Given the description of an element on the screen output the (x, y) to click on. 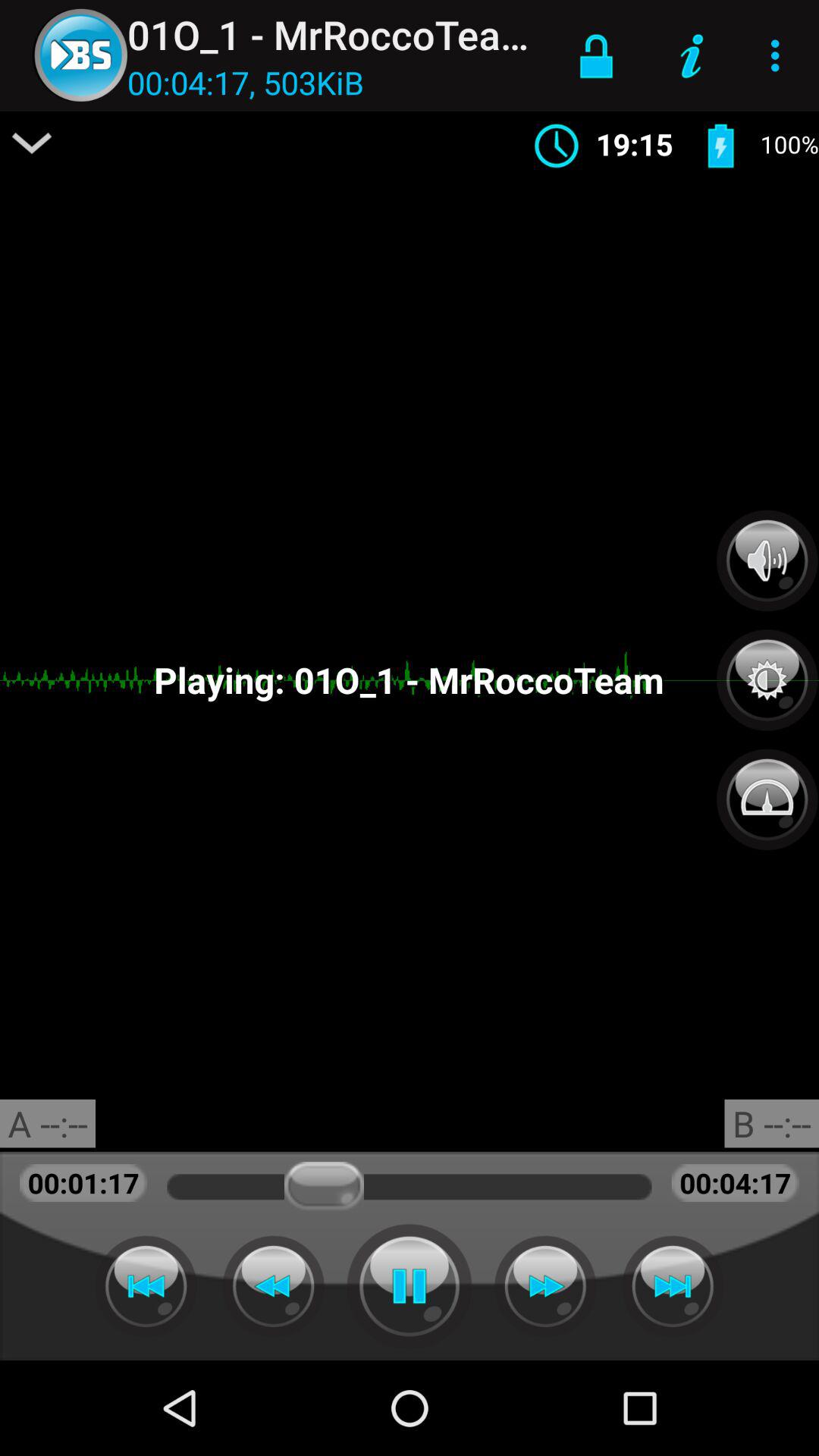
fast forward (672, 1286)
